Given the description of an element on the screen output the (x, y) to click on. 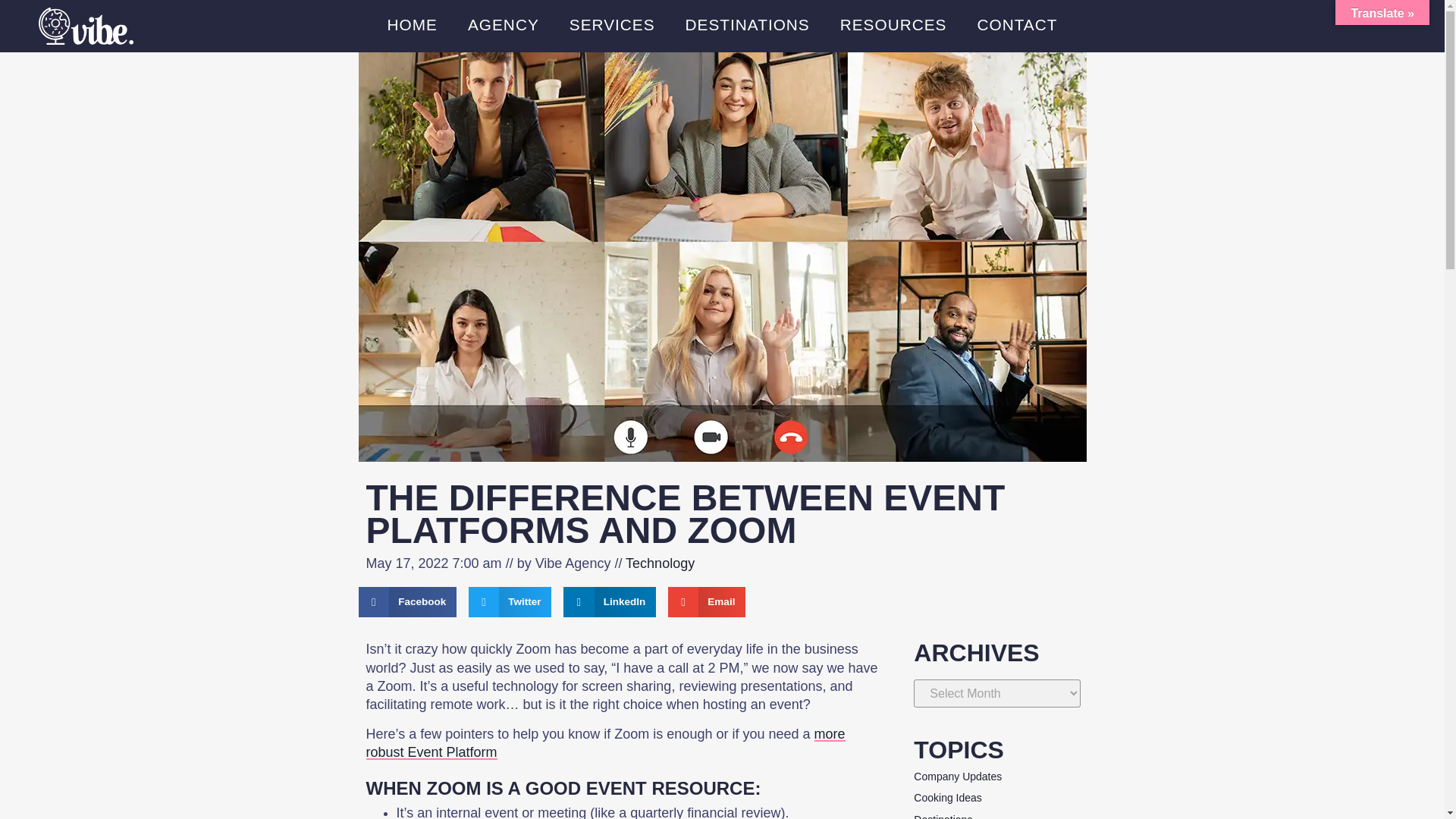
SERVICES (611, 24)
AGENCY (503, 24)
HOME (412, 24)
RESOURCES (893, 24)
DESTINATIONS (747, 24)
CONTACT (1015, 24)
